Given the description of an element on the screen output the (x, y) to click on. 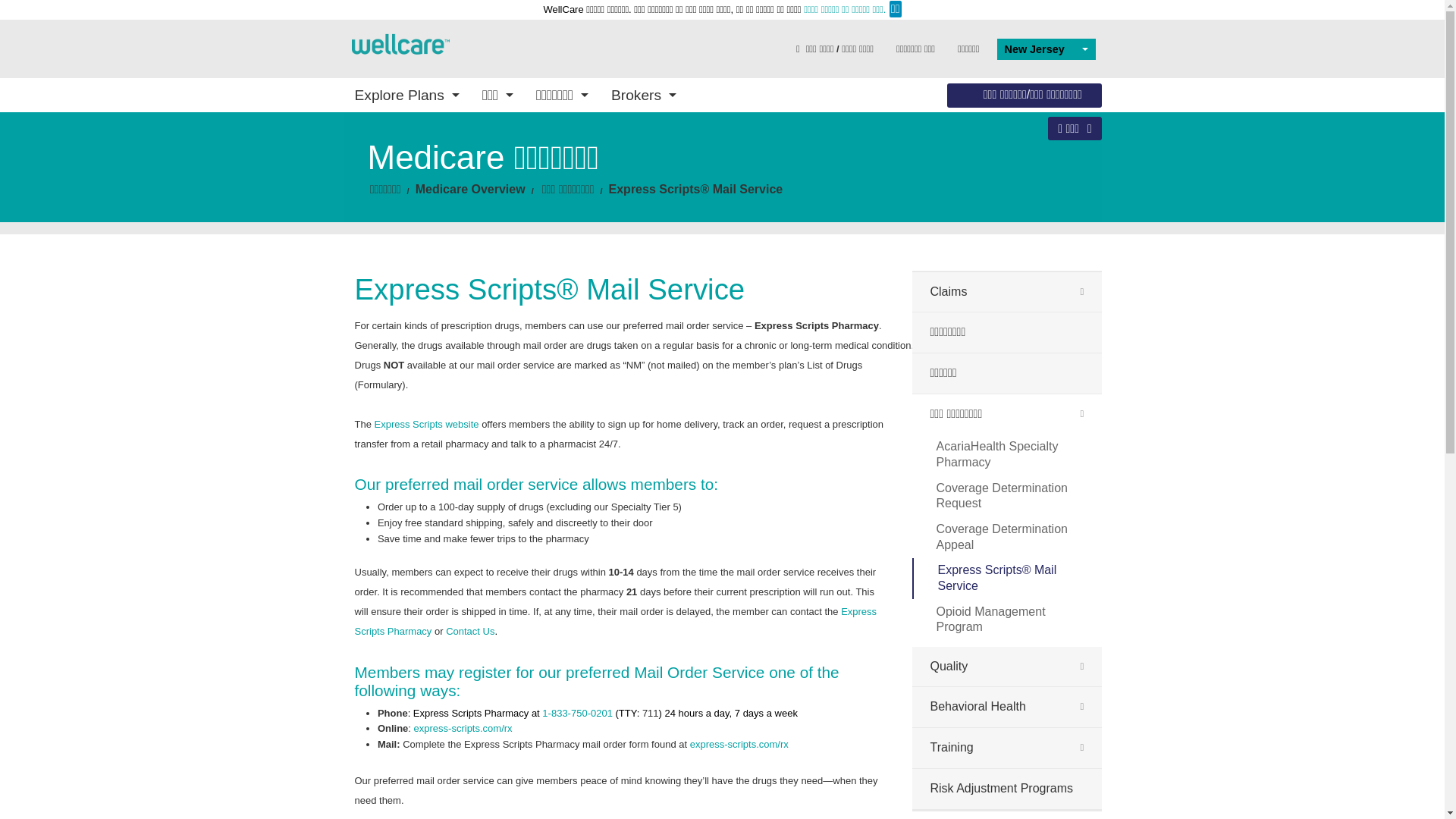
PDP Overview (633, 189)
Explore Plans (406, 94)
Shop Plans (810, 194)
C-SNP Plans (456, 260)
Resources and Education (633, 293)
Already a Member? (810, 216)
D-SNP Plans (456, 238)
Medicare Overview (633, 263)
Plans Overview (456, 173)
2024 Medicare Basics (633, 194)
Eligibility Overview (988, 173)
PPO Plans (456, 194)
Turning 65 (988, 194)
HMO Plans (456, 216)
Dual Eligibility (988, 216)
